Given the description of an element on the screen output the (x, y) to click on. 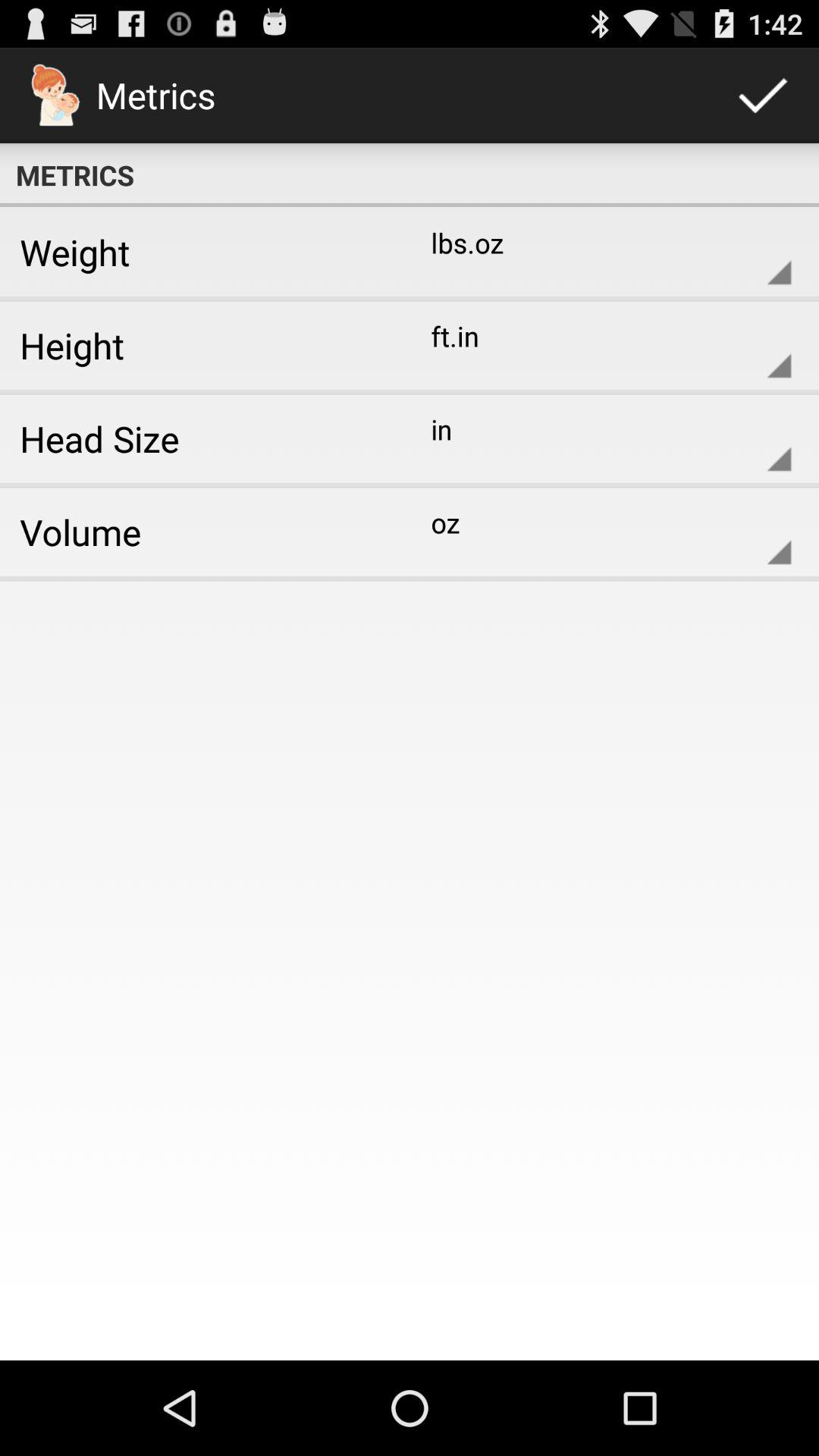
turn on item to the right of the height app (599, 345)
